Given the description of an element on the screen output the (x, y) to click on. 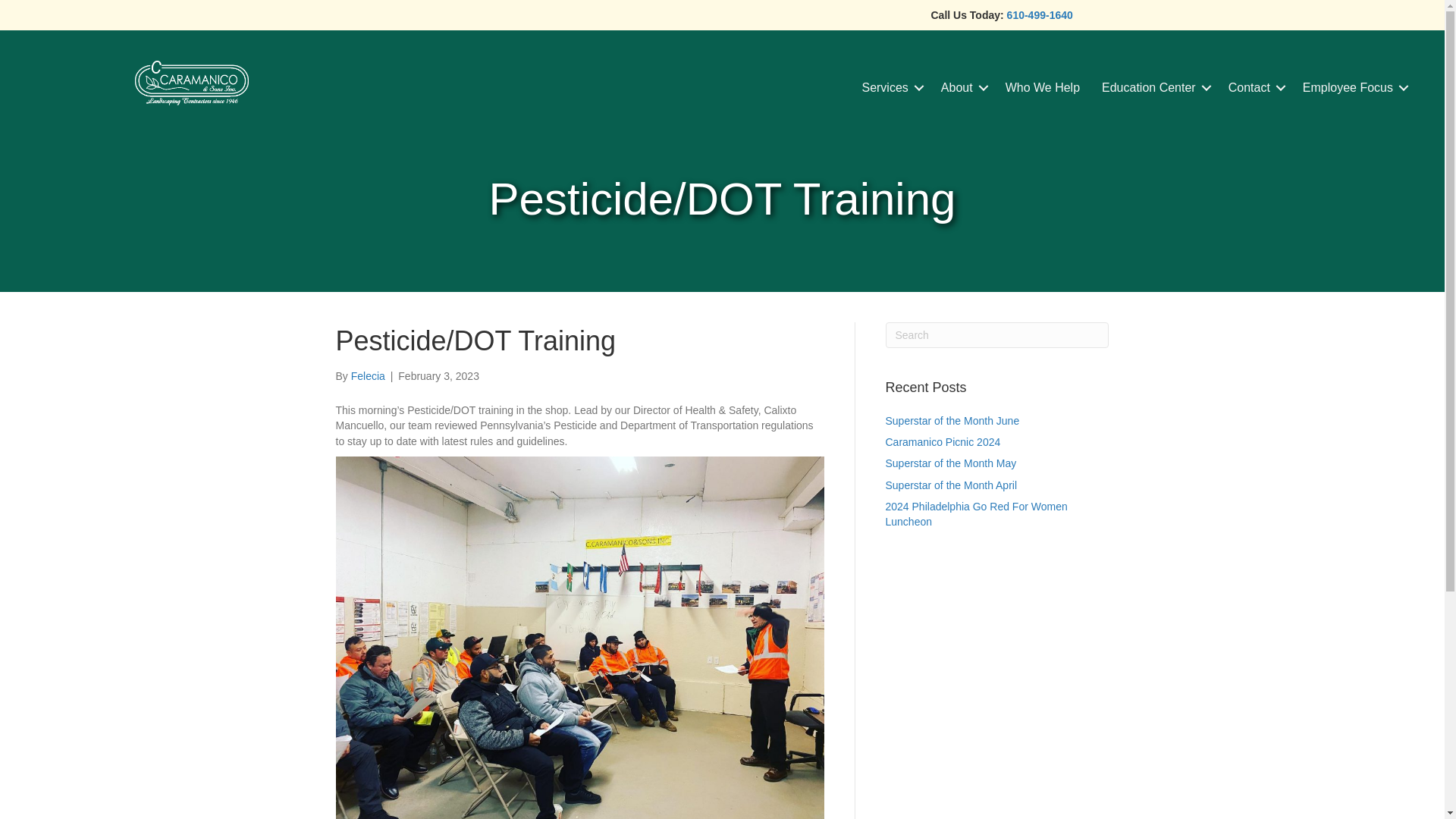
Employee Focus (1352, 87)
Caramanico Picnic 2024 (943, 441)
CCS Logo (191, 82)
Superstar of the Month May (950, 463)
Superstar of the Month June (952, 420)
2024 Philadelphia Go Red For Women Luncheon (976, 513)
Education Center (1153, 87)
About (962, 87)
Who We Help (1042, 87)
610-499-1640 (1040, 15)
